Given the description of an element on the screen output the (x, y) to click on. 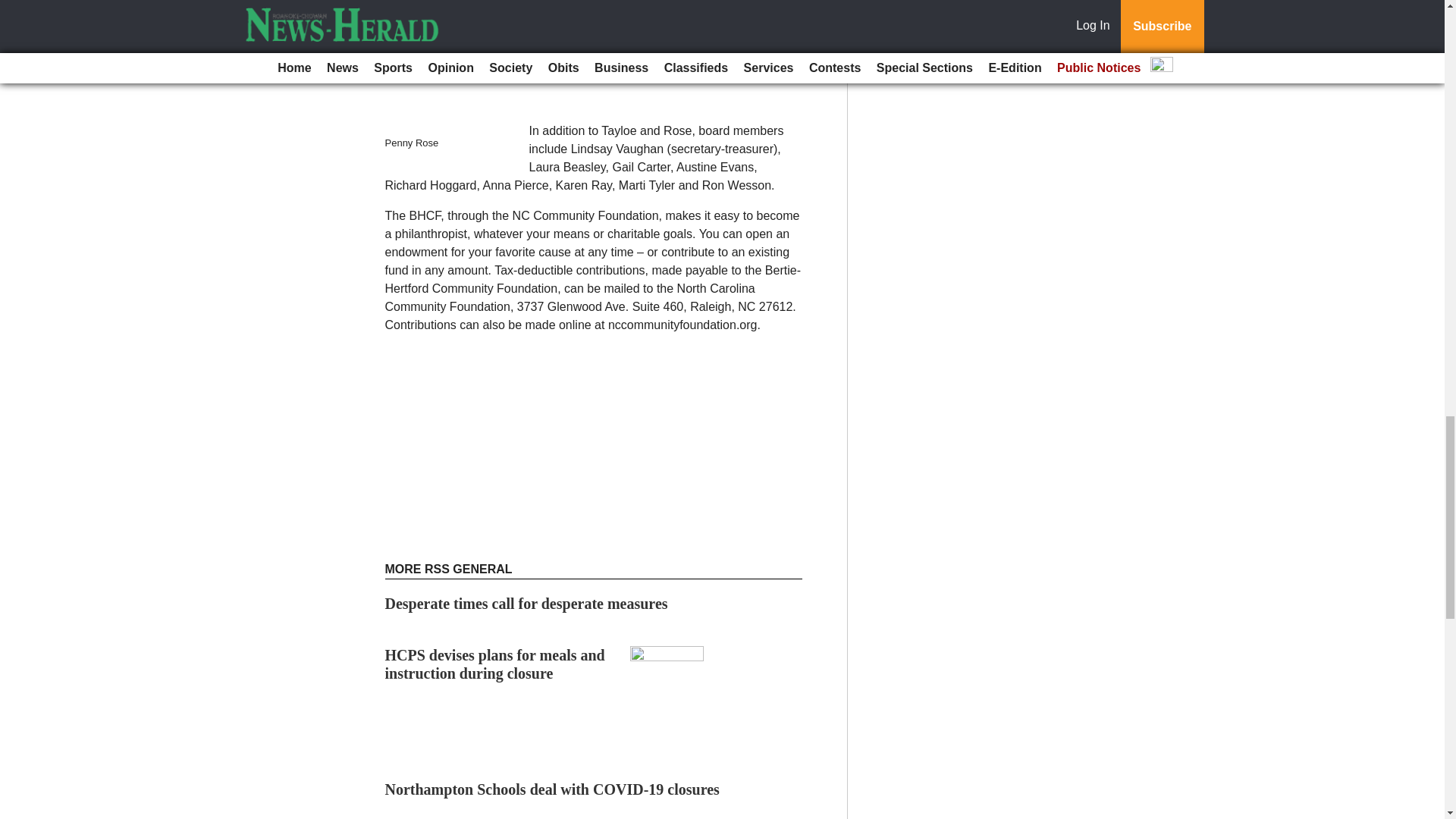
Northampton Schools deal with COVID-19 closures (552, 789)
Northampton Schools deal with COVID-19 closures (552, 789)
Desperate times call for desperate measures (526, 603)
HCPS devises plans for meals and instruction during closure (495, 664)
Desperate times call for desperate measures (526, 603)
HCPS devises plans for meals and instruction during closure (495, 664)
